Given the description of an element on the screen output the (x, y) to click on. 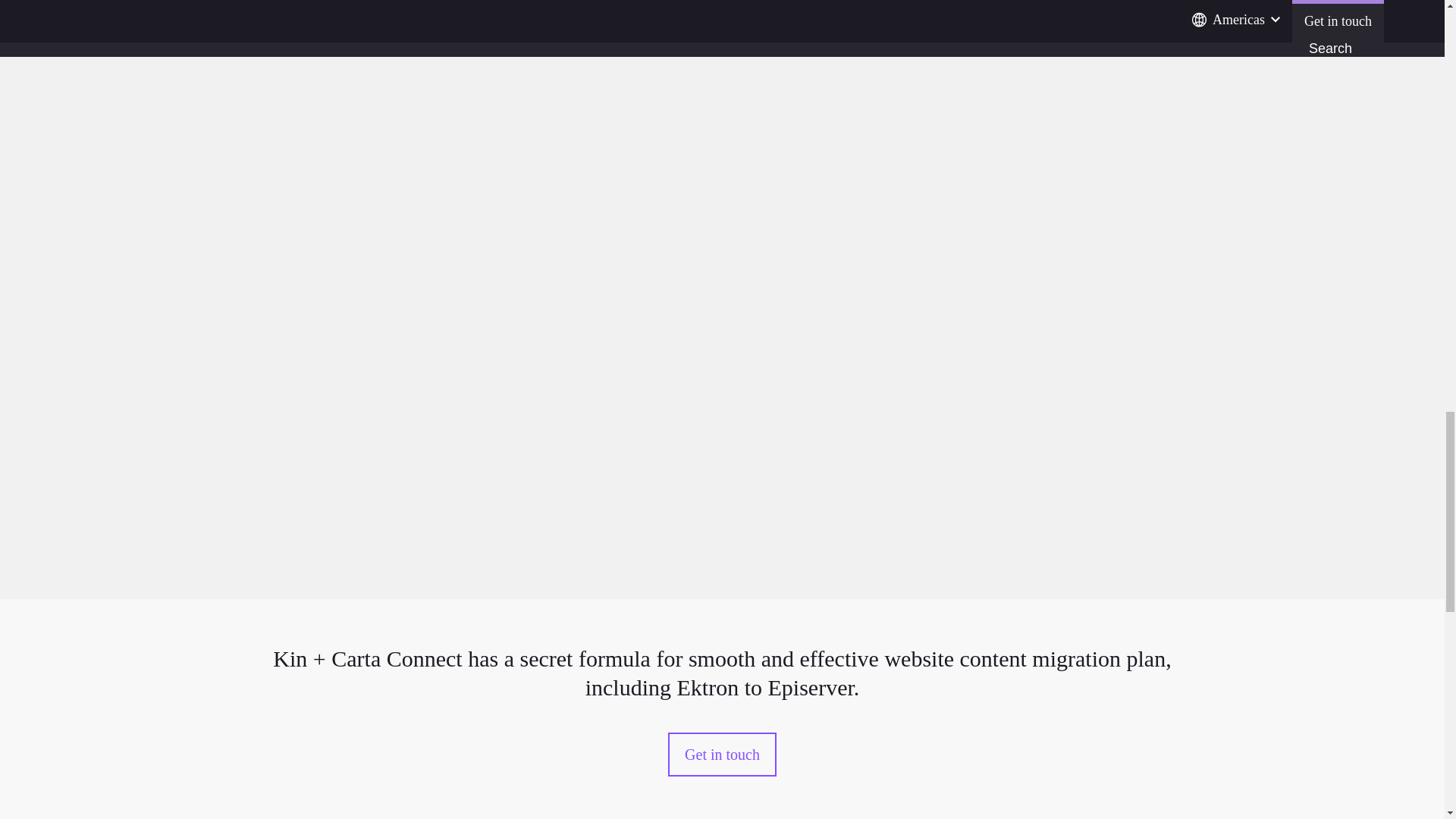
Get in touch (722, 754)
